Given the description of an element on the screen output the (x, y) to click on. 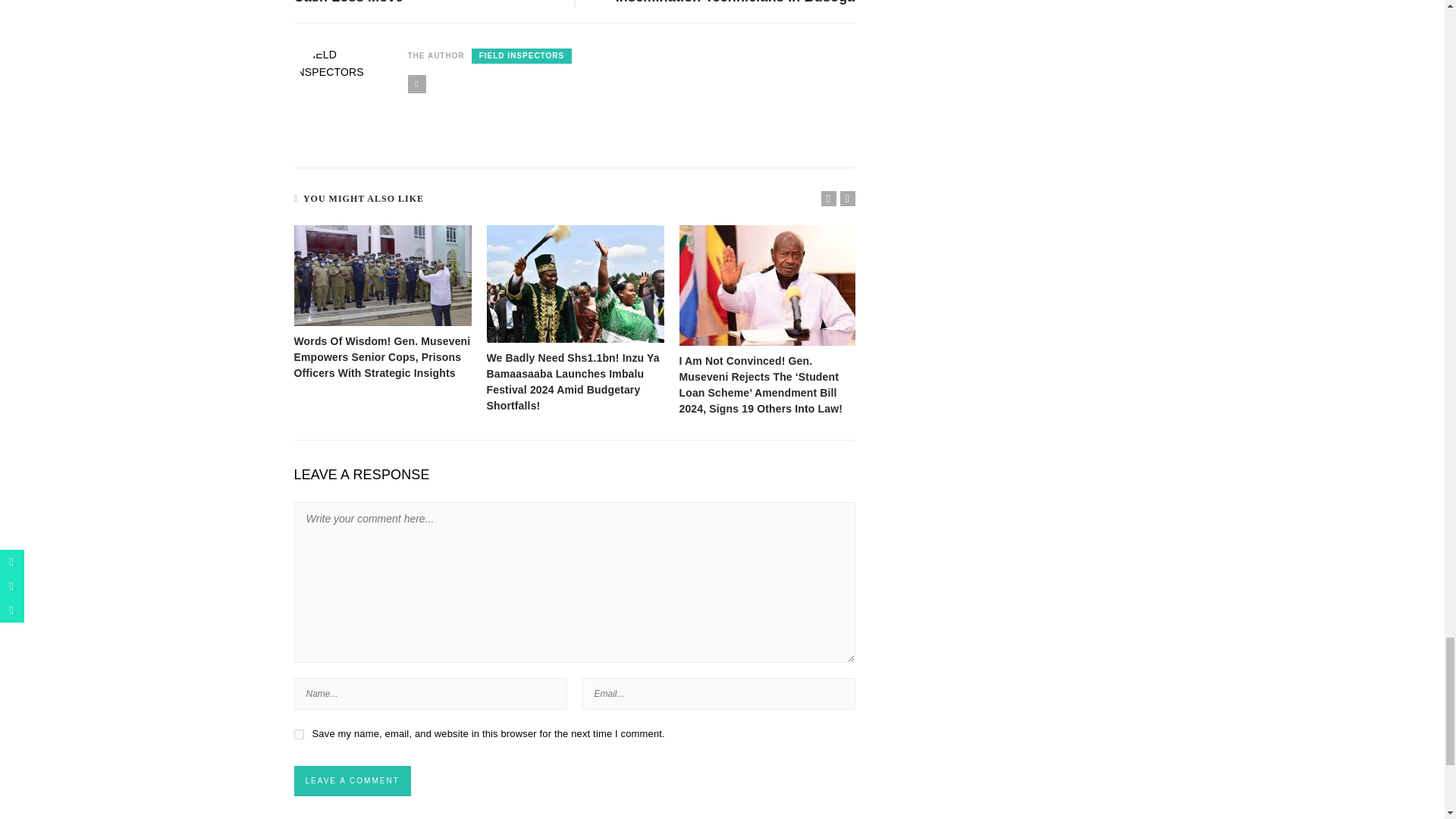
UWOPA Moots Another Multi-Million Cash Loss Move (412, 2)
Leave a comment (352, 780)
yes (299, 734)
